Given the description of an element on the screen output the (x, y) to click on. 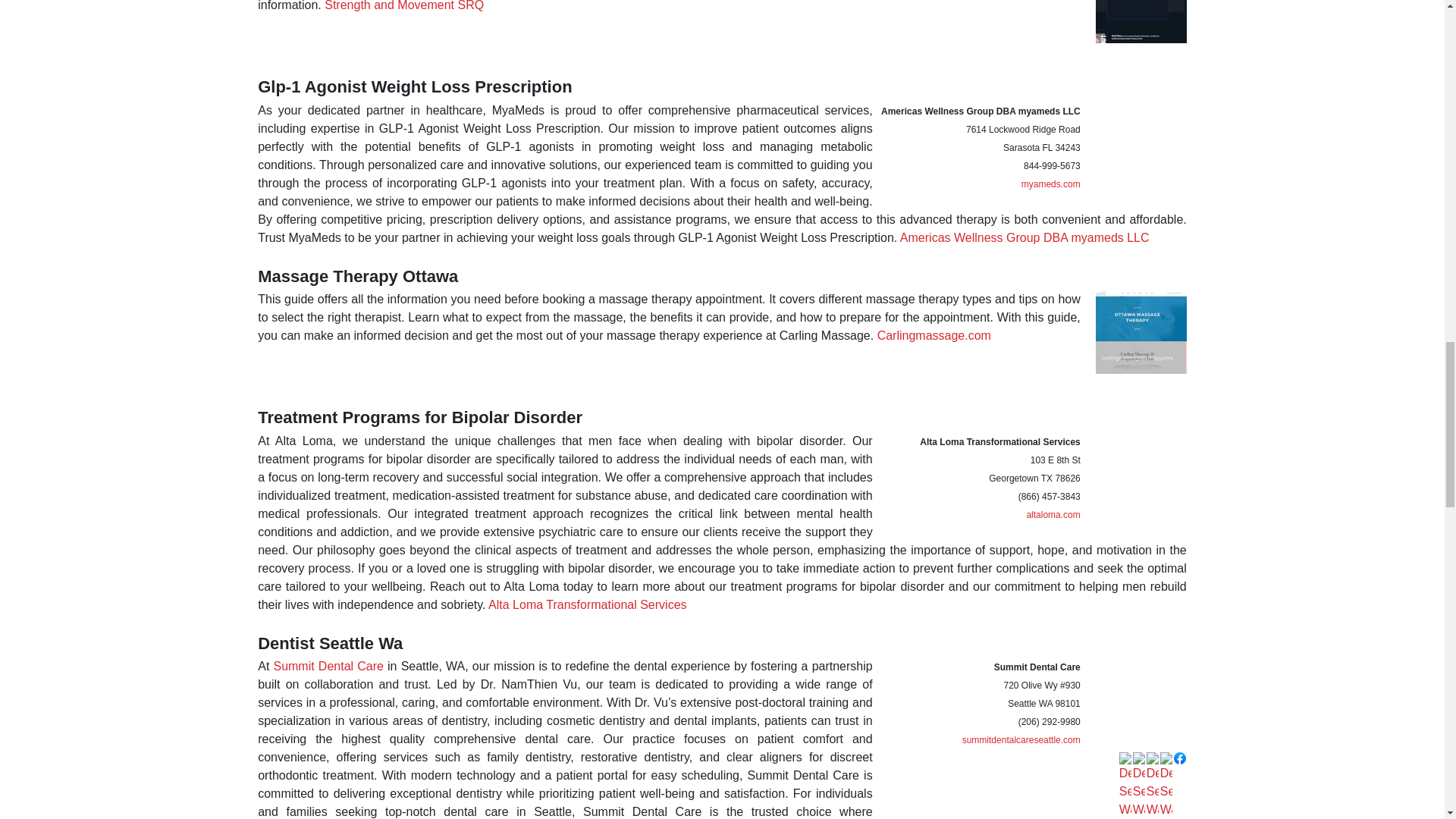
Glp-1 Agonist Weight Loss Prescription (414, 86)
Massage Therapy Ottawa (357, 275)
Strength and Movement SRQ (403, 5)
myameds.com (1051, 184)
Carlingmassage.com (934, 335)
Massage Therapy Ottawa (357, 275)
Glp-1 Agonist Weight Loss Prescription (414, 86)
Dentist Seattle Wa (330, 642)
altaloma.com (1053, 514)
Alta Loma Transformational Services (586, 604)
